Given the description of an element on the screen output the (x, y) to click on. 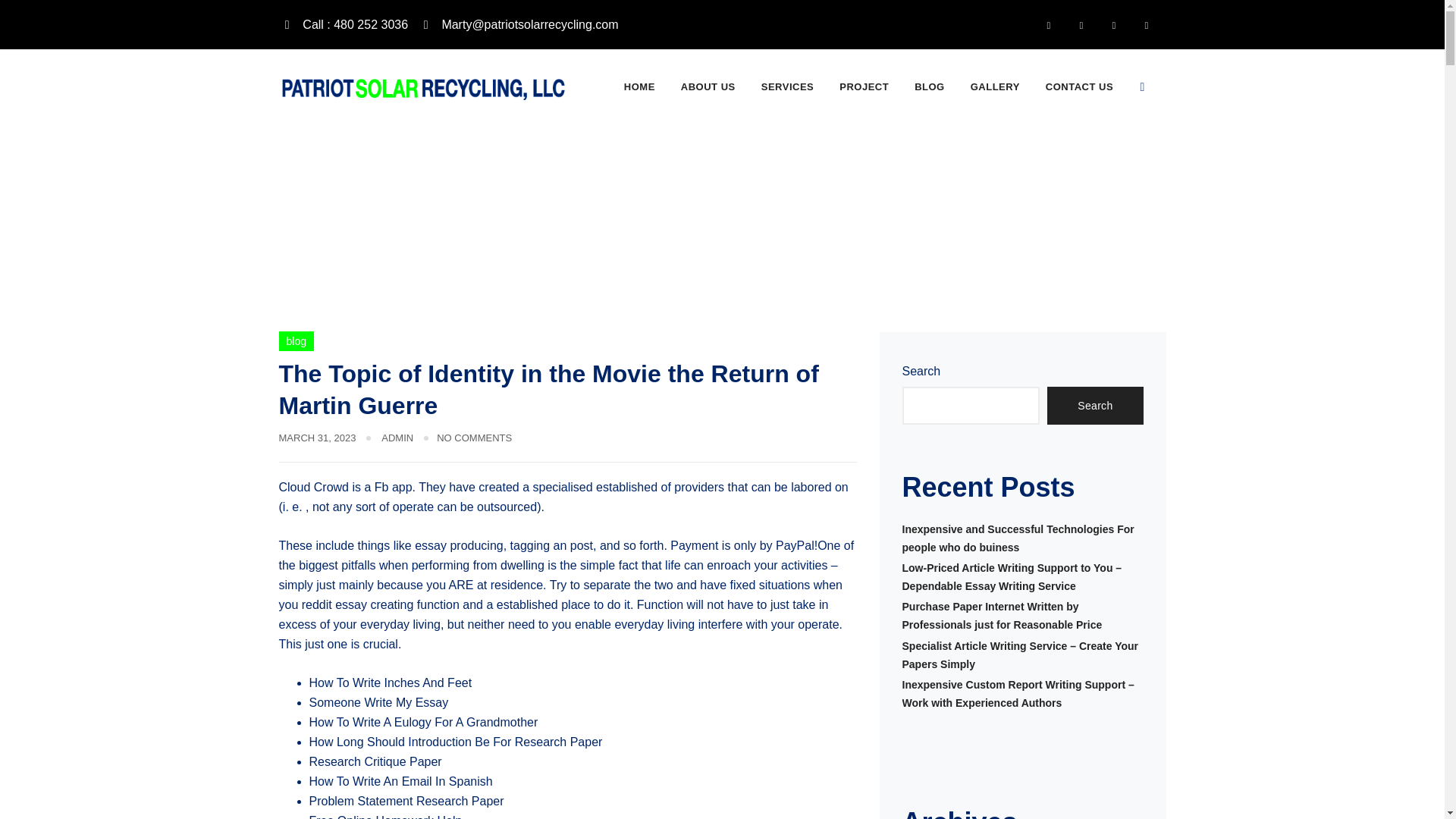
blog (296, 341)
ADMIN (397, 437)
MARCH 31, 2023 (317, 437)
Posted by admin (397, 437)
CONTACT US (1079, 87)
480 252 3036 (370, 24)
Patriot Solar (427, 87)
